Given the description of an element on the screen output the (x, y) to click on. 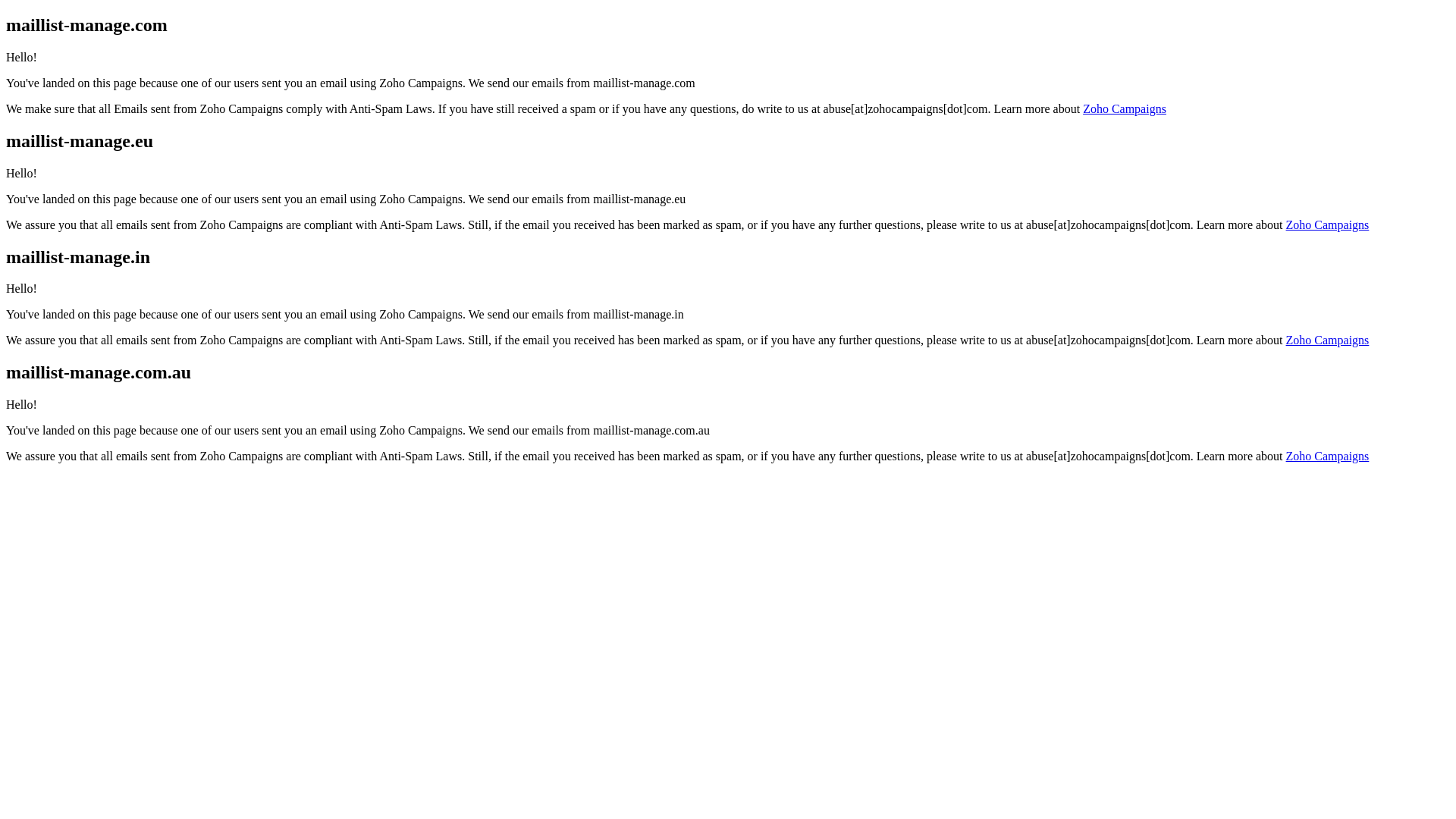
Zoho Campaigns Element type: text (1327, 339)
Zoho Campaigns Element type: text (1124, 108)
Zoho Campaigns Element type: text (1327, 455)
Zoho Campaigns Element type: text (1327, 224)
